Given the description of an element on the screen output the (x, y) to click on. 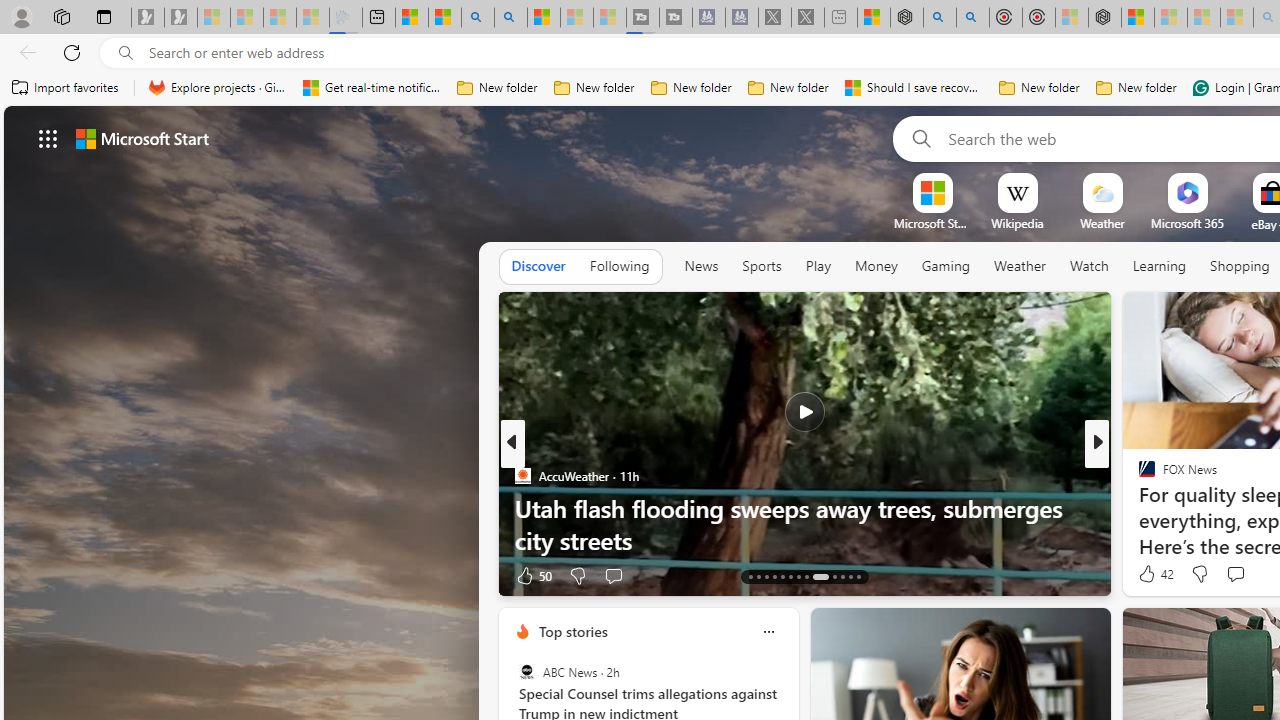
View comments 3 Comment (11, 575)
492 Like (1151, 574)
Microsoft start (142, 138)
Start the conversation (1234, 573)
X - Sleeping (808, 17)
More options (768, 631)
View comments 4 Comment (1234, 574)
AutomationID: tab-25 (857, 576)
Class: icon-img (768, 632)
AutomationID: tab-24 (850, 576)
